Given the description of an element on the screen output the (x, y) to click on. 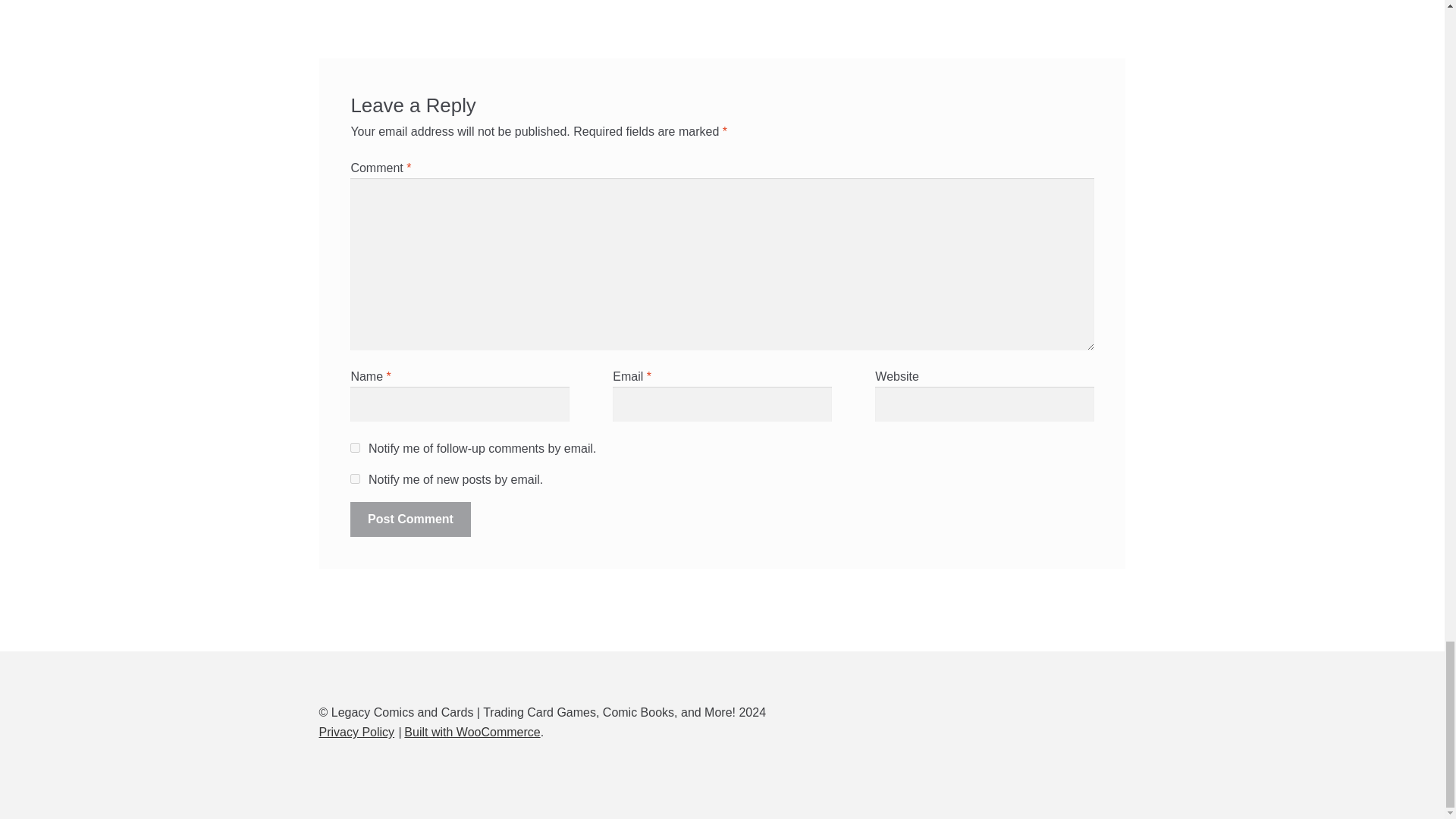
subscribe (354, 479)
subscribe (354, 447)
WooCommerce - The Best eCommerce Platform for WordPress (472, 731)
Post Comment (410, 519)
